Given the description of an element on the screen output the (x, y) to click on. 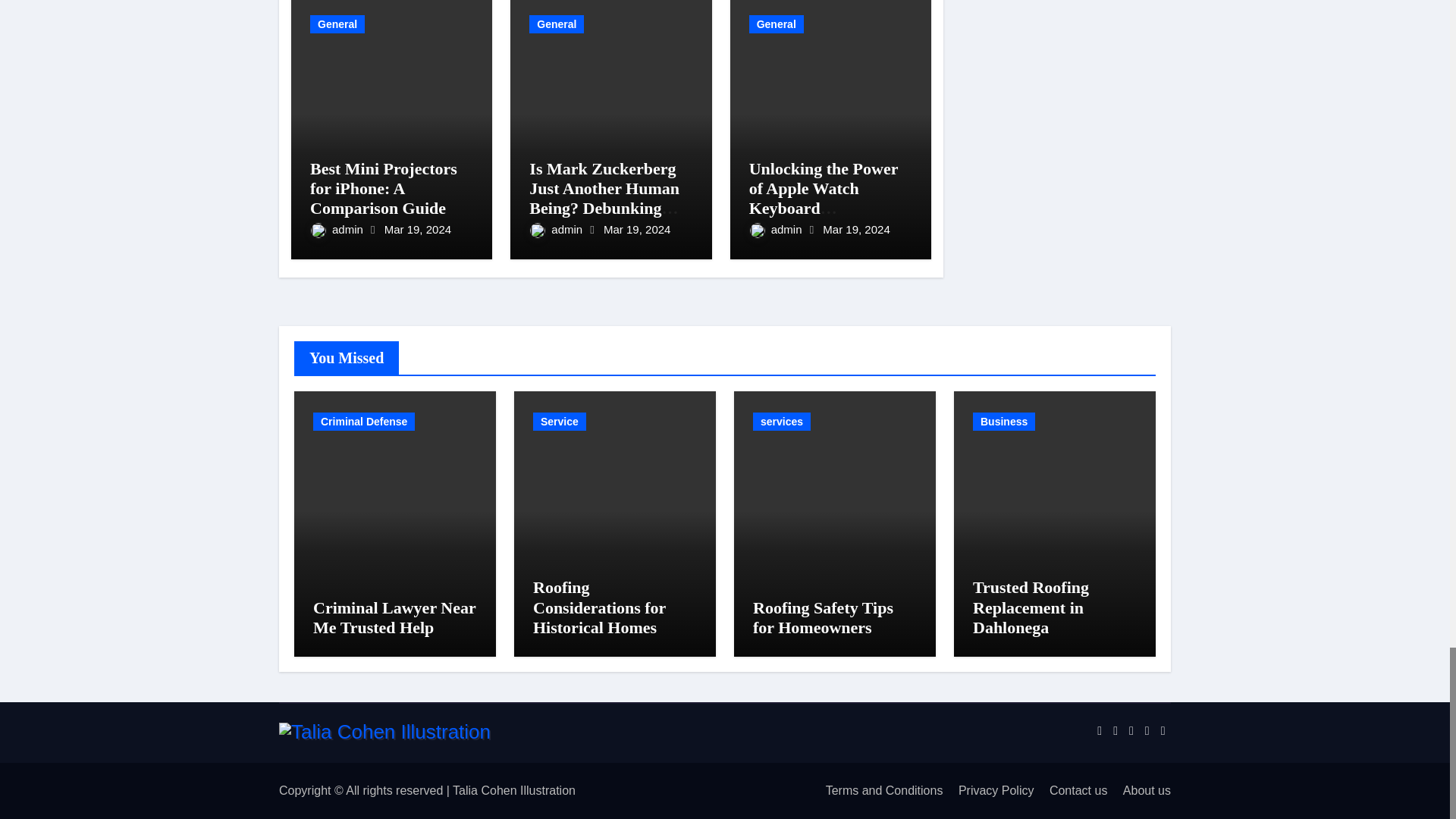
Terms and Conditions (878, 790)
About us (1140, 790)
Permalink to: Criminal Lawyer Near Me Trusted Help (394, 617)
Permalink to: Roofing Safety Tips for Homeowners (822, 617)
Privacy Policy (989, 790)
Permalink to: Roofing Considerations for Historical Homes (598, 607)
Contact us (1071, 790)
Permalink to: Trusted Roofing Replacement in Dahlonega (1030, 607)
